Given the description of an element on the screen output the (x, y) to click on. 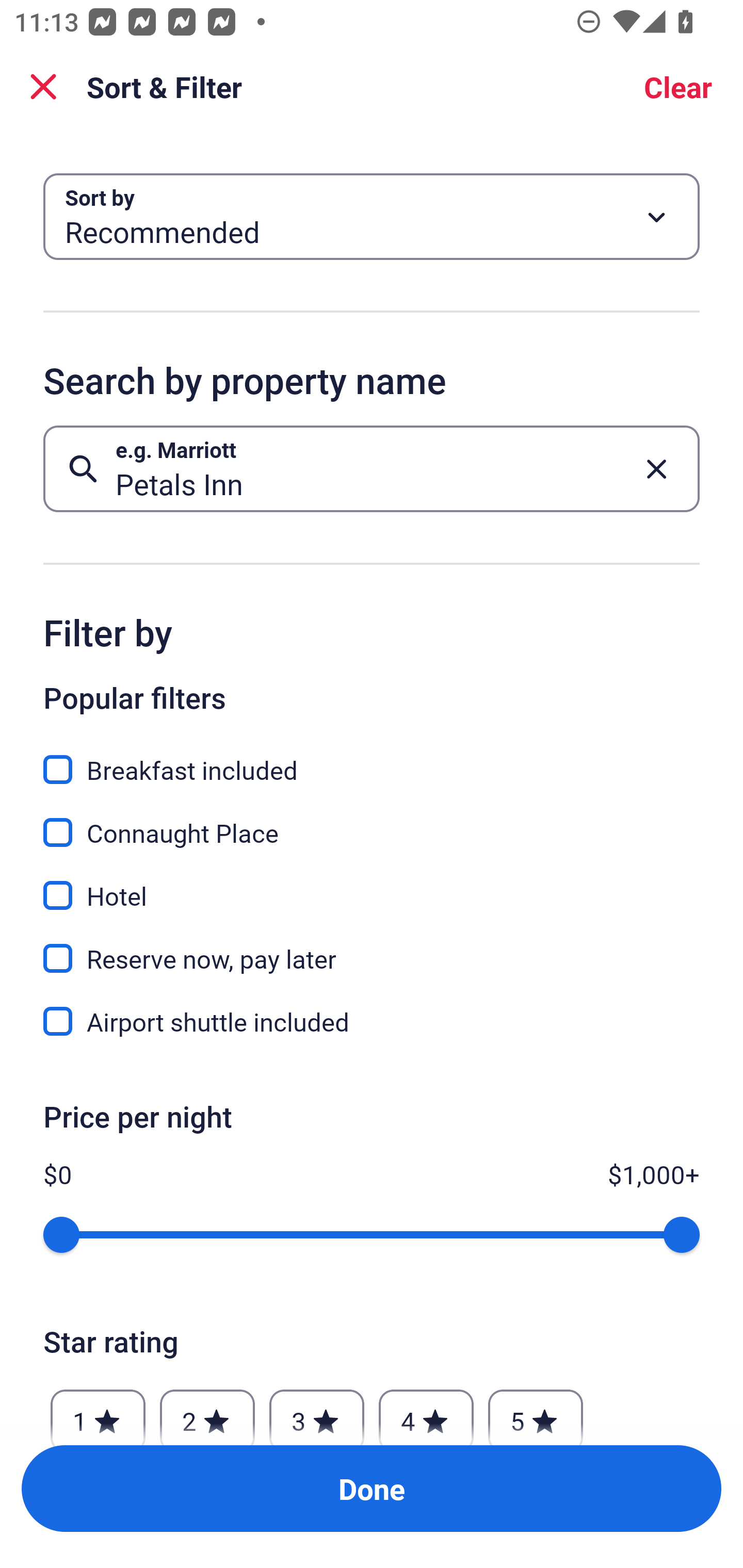
Close Sort and Filter (43, 86)
Clear (677, 86)
Sort by Button Recommended (371, 217)
e.g. Marriott Button Petals Inn (371, 468)
Breakfast included, Breakfast included (371, 757)
Connaught Place, Connaught Place (371, 821)
Hotel, Hotel (371, 883)
Reserve now, pay later, Reserve now, pay later (371, 946)
Airport shuttle included, Airport shuttle included (371, 1021)
1 (97, 1411)
2 (206, 1411)
3 (316, 1411)
4 (426, 1411)
5 (535, 1411)
Apply and close Sort and Filter Done (371, 1488)
